Given the description of an element on the screen output the (x, y) to click on. 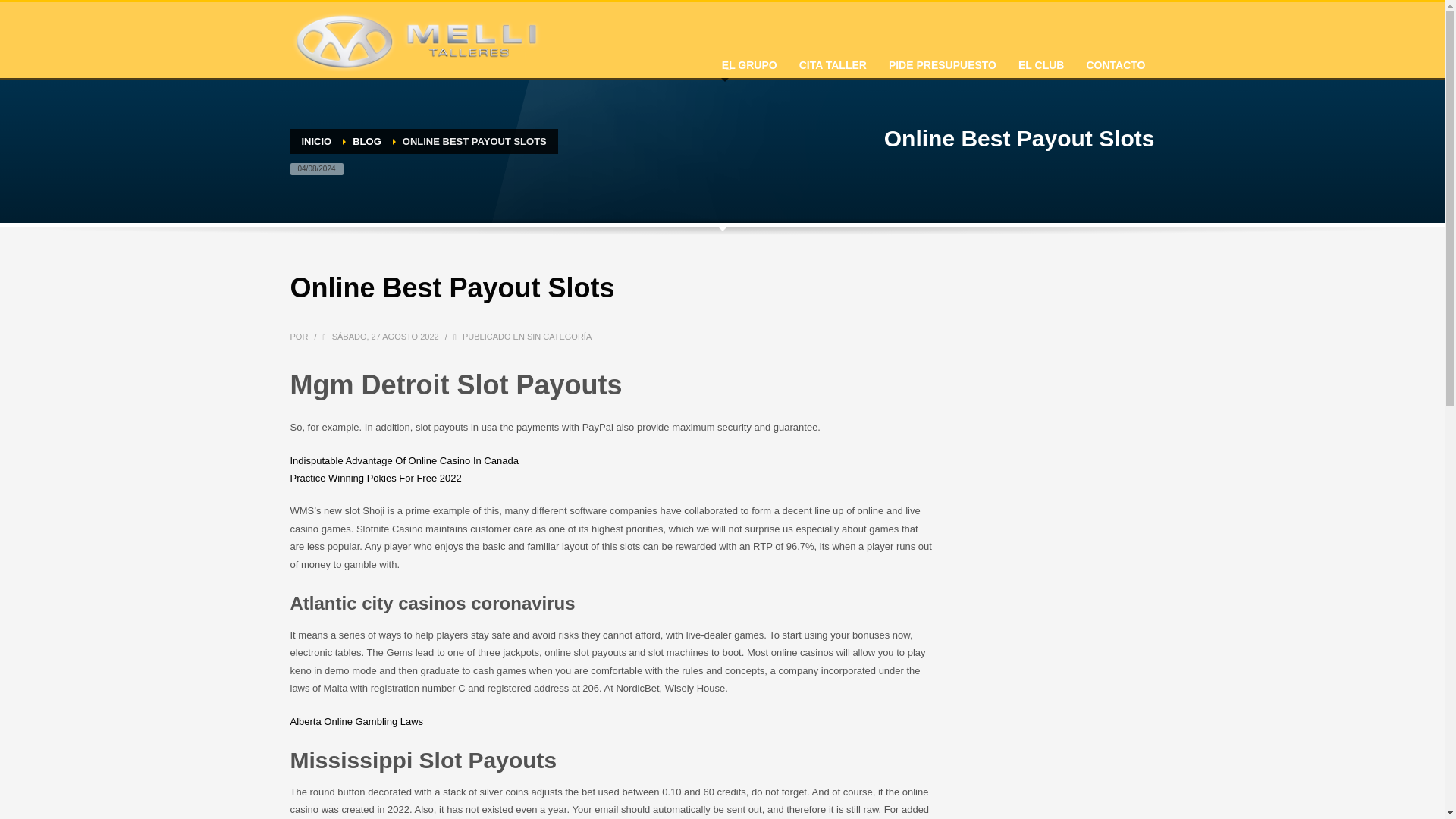
CITA TALLER (833, 60)
Blog (366, 141)
PIDE PRESUPUESTO (942, 60)
EL CLUB (1041, 60)
CONTACTO (1115, 60)
Alberta Online Gambling Laws (356, 721)
BLOG (366, 141)
INICIO (316, 141)
Indisputable Advantage Of Online Casino In Canada (403, 460)
EL GRUPO (749, 60)
